Given the description of an element on the screen output the (x, y) to click on. 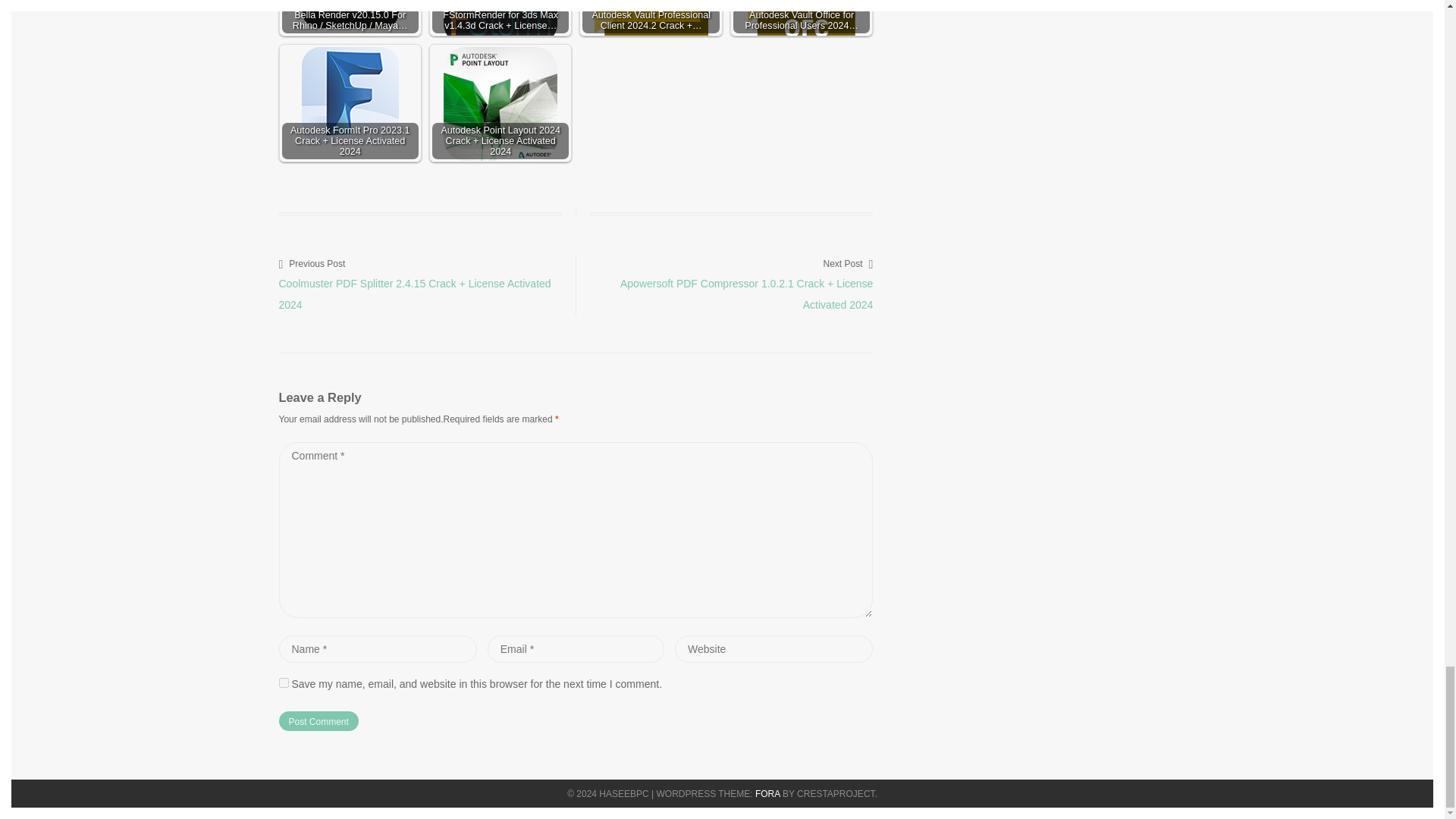
yes (283, 682)
Post Comment (318, 721)
